Given the description of an element on the screen output the (x, y) to click on. 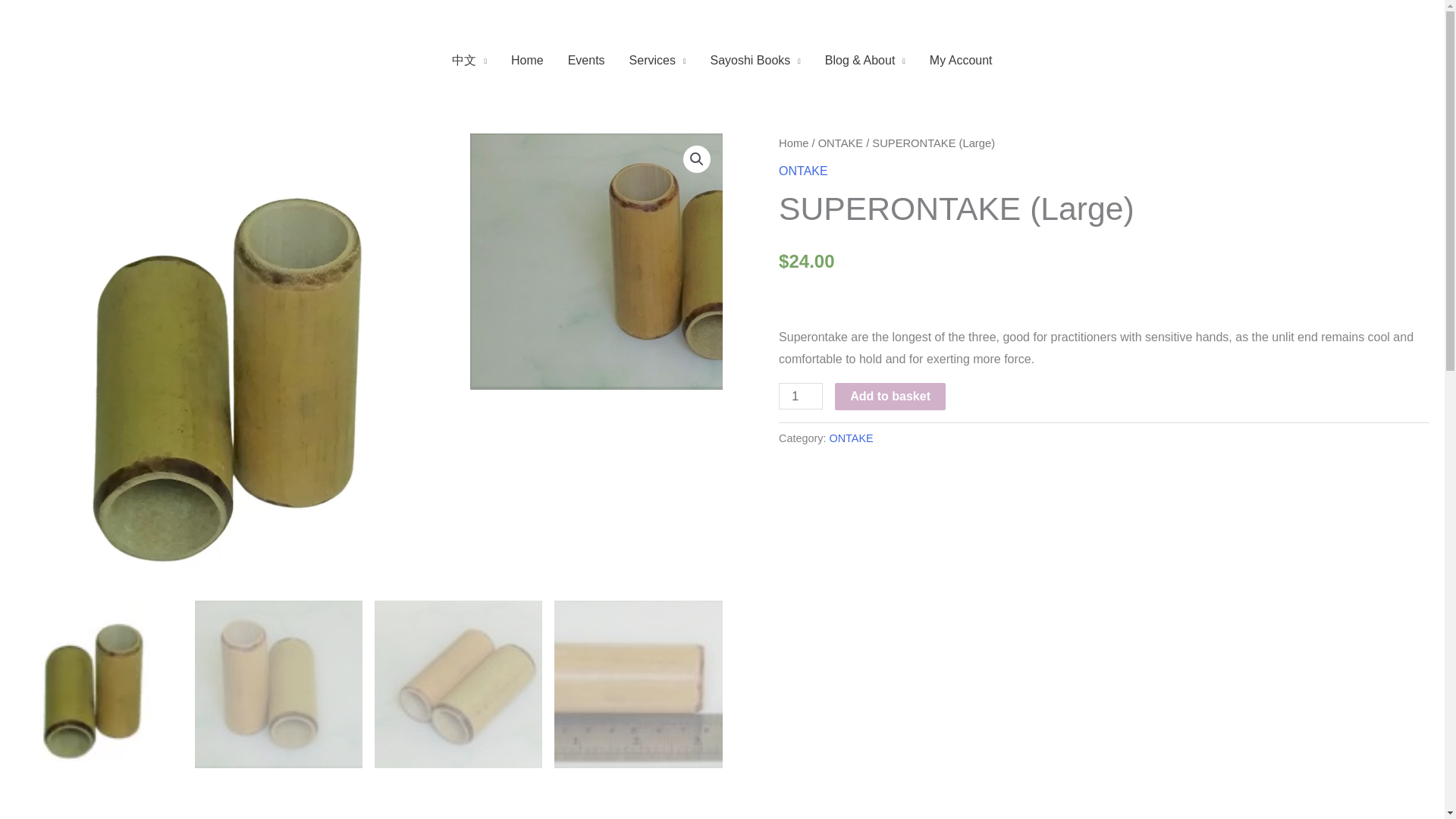
DSC00544 (697, 261)
Home (527, 60)
Services (657, 60)
Sayoshi Books (754, 60)
Events (586, 60)
1 (800, 396)
